Given the description of an element on the screen output the (x, y) to click on. 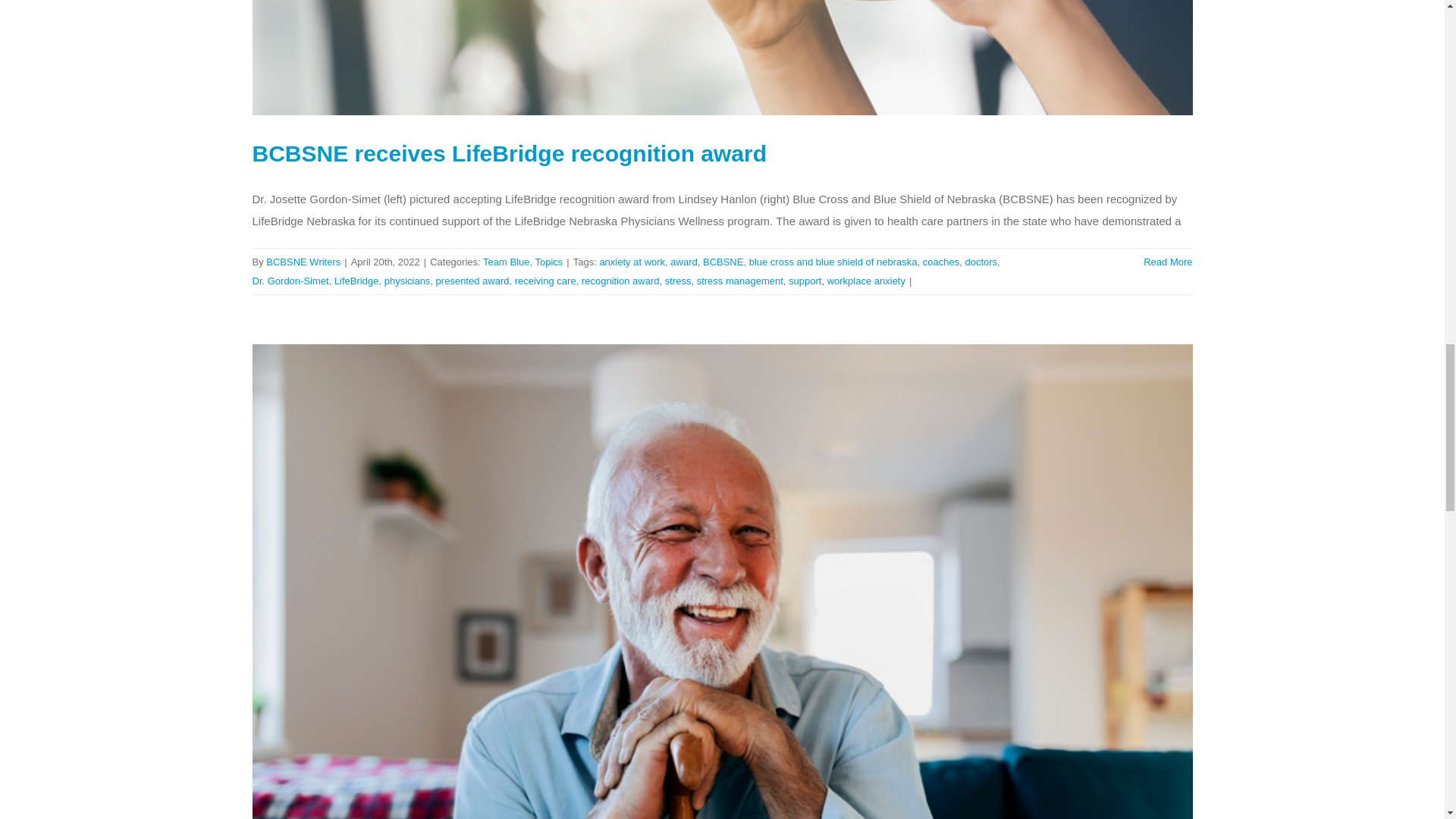
Posts by BCBSNE Writers (303, 261)
